Given the description of an element on the screen output the (x, y) to click on. 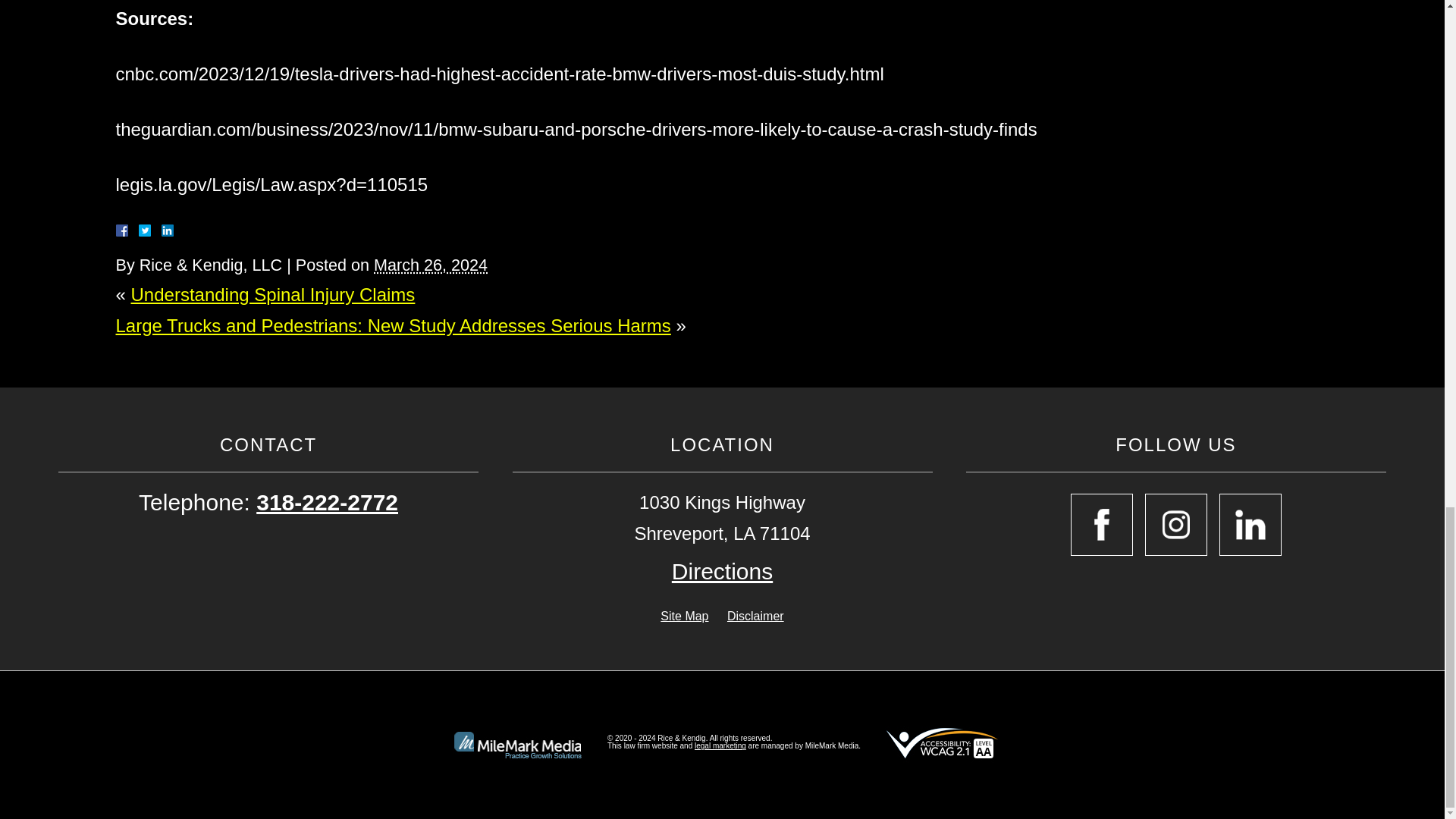
Open MileMarkMedia.com in a New Window (719, 746)
Open Linkedin in a New Window (1250, 524)
LinkedIn (160, 230)
Open Facebook in a New Window (1101, 524)
Open Google Map in a New Window (722, 571)
Open Instagram in a New Window (1175, 524)
Facebook (139, 230)
2024-03-26T03:00:03-0700 (430, 264)
Twitter (149, 230)
